Given the description of an element on the screen output the (x, y) to click on. 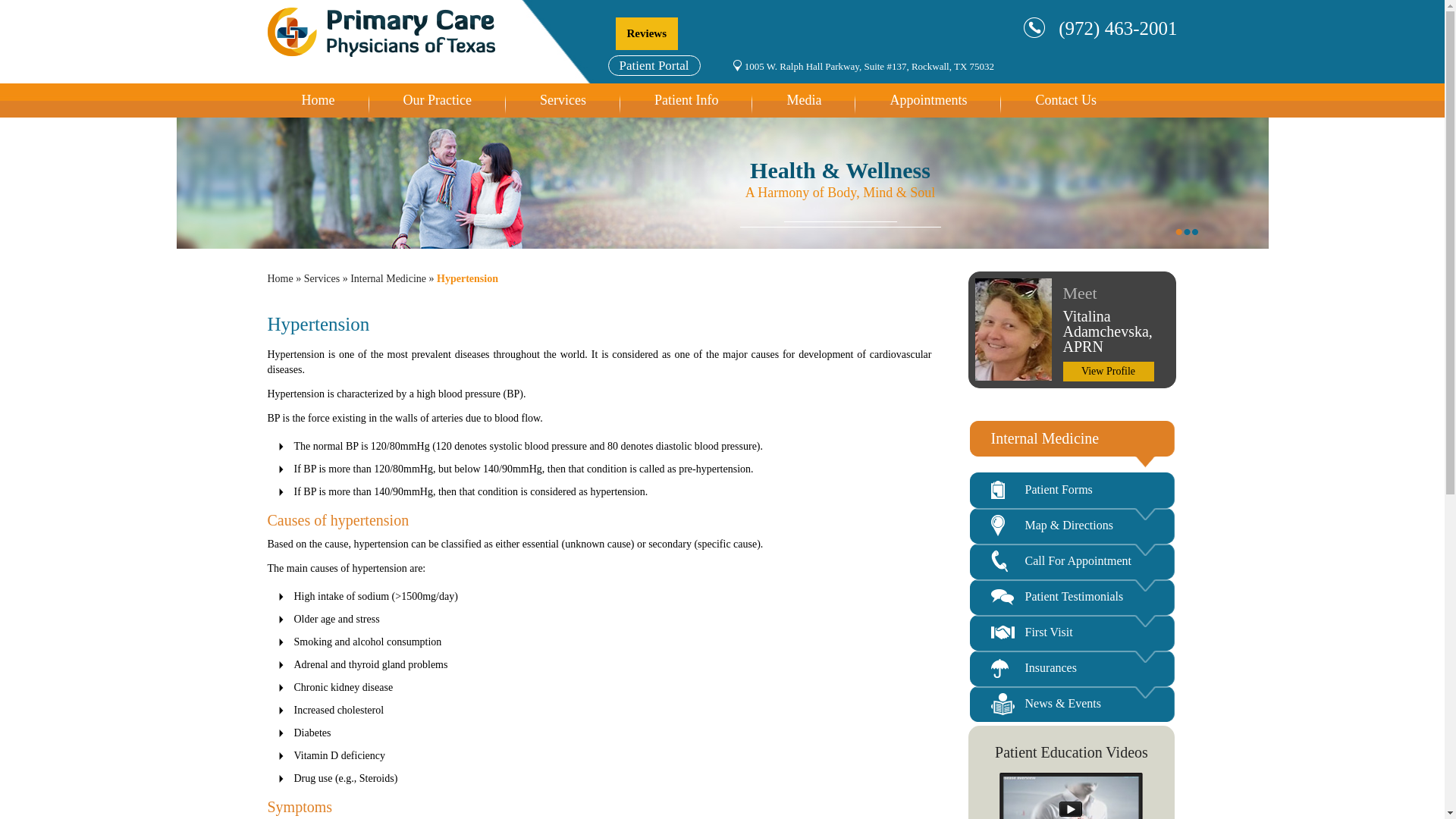
Home (279, 278)
Home (317, 104)
Patient Portal (653, 65)
Services (321, 278)
Our Practice (436, 104)
Internal Medicine (388, 278)
Reviews (646, 33)
Hypertension (466, 278)
